Given the description of an element on the screen output the (x, y) to click on. 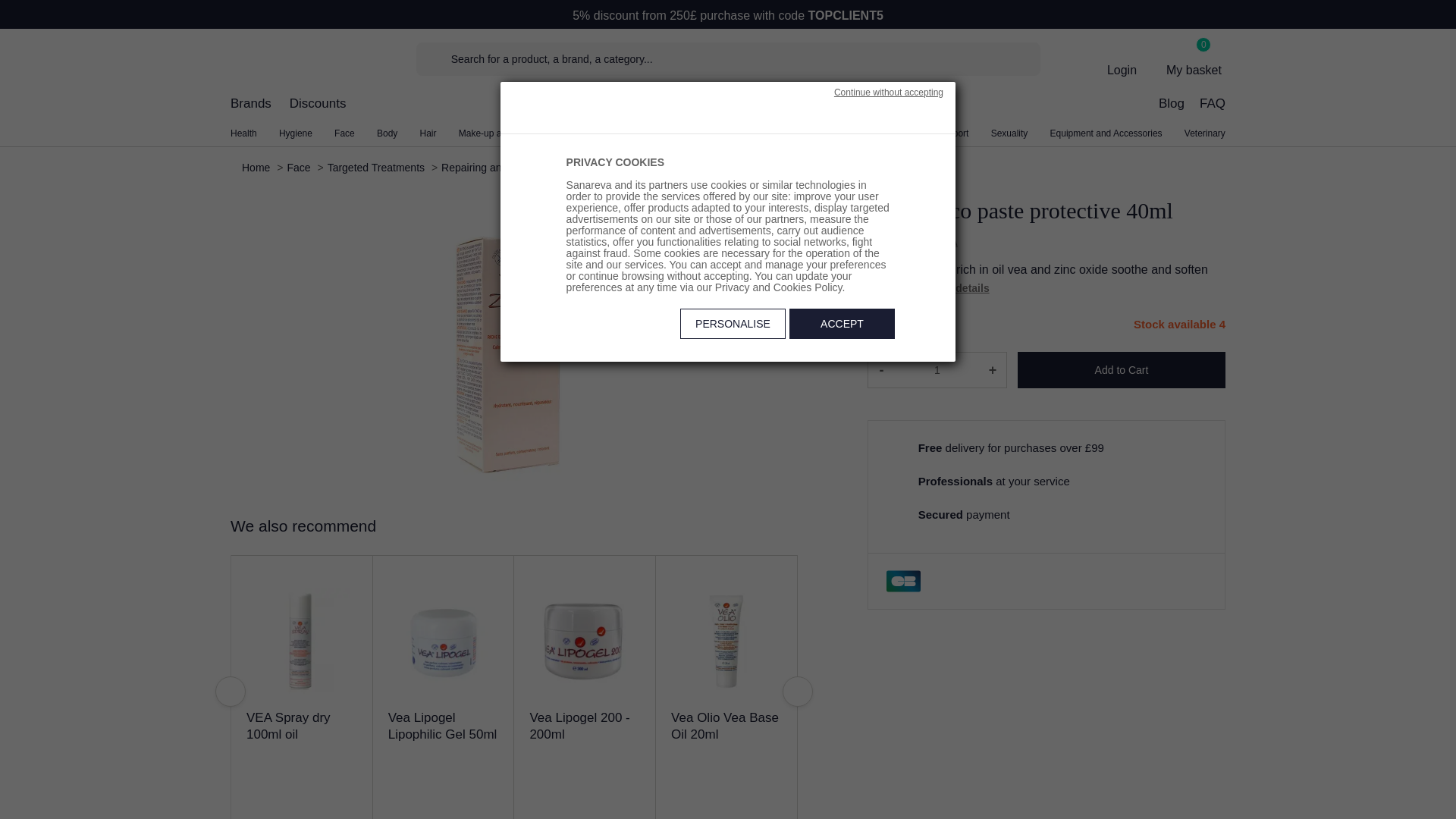
Login (1121, 58)
Hygiene (296, 132)
Vea Olio Vea Base Oil 20ml (724, 726)
Qty (937, 369)
Face (344, 132)
Health (243, 132)
VEA Spray dry 100ml oil (288, 726)
Blog (1171, 108)
Vea Lipogel 200 - 200ml (578, 726)
ACCEPT (842, 323)
Home (258, 167)
VEA (947, 241)
PERSONALISE (732, 323)
VEA Zinco paste protective 40ml (708, 167)
Continue without accepting (888, 92)
